Given the description of an element on the screen output the (x, y) to click on. 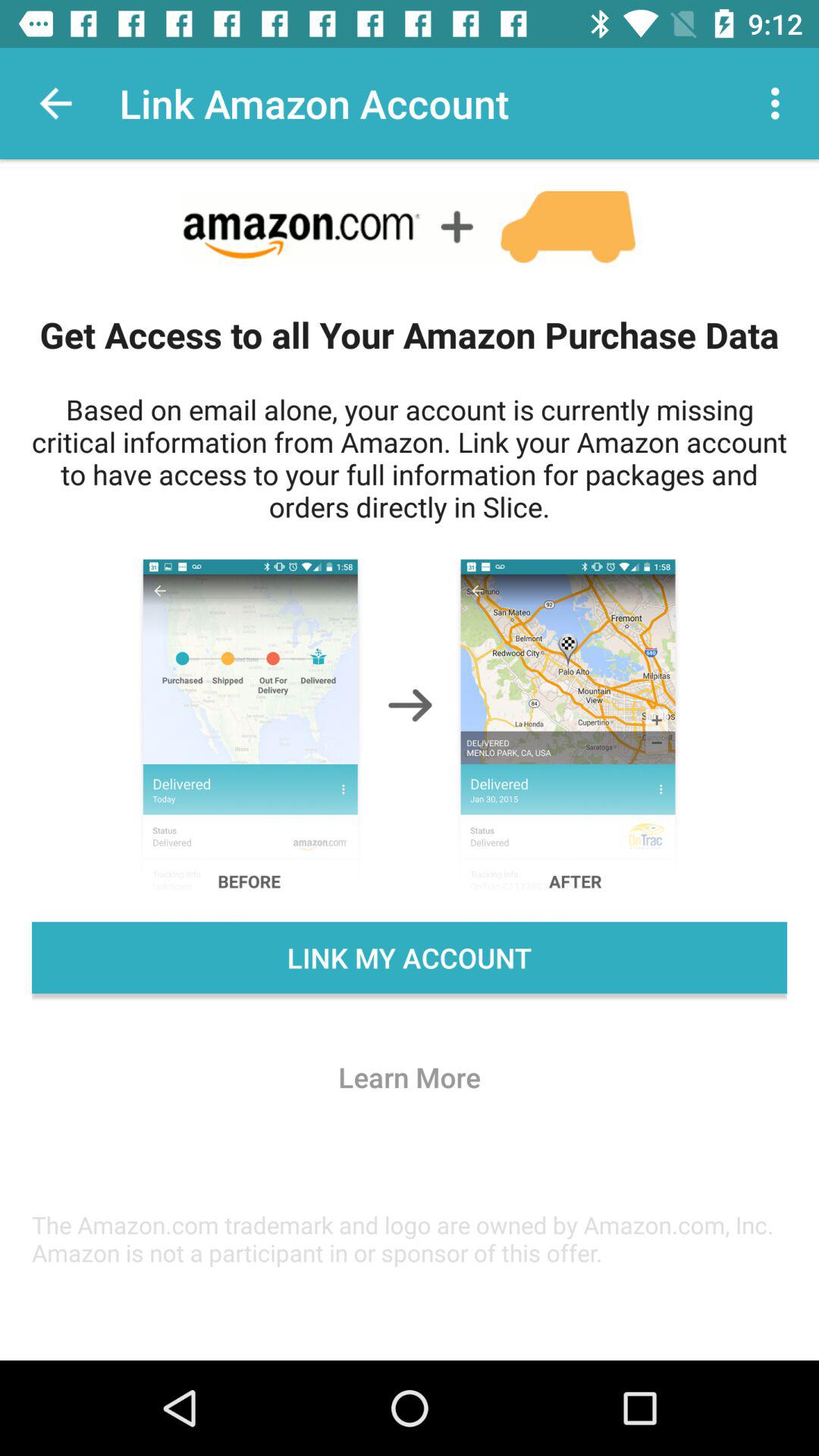
press learn more icon (409, 1077)
